Given the description of an element on the screen output the (x, y) to click on. 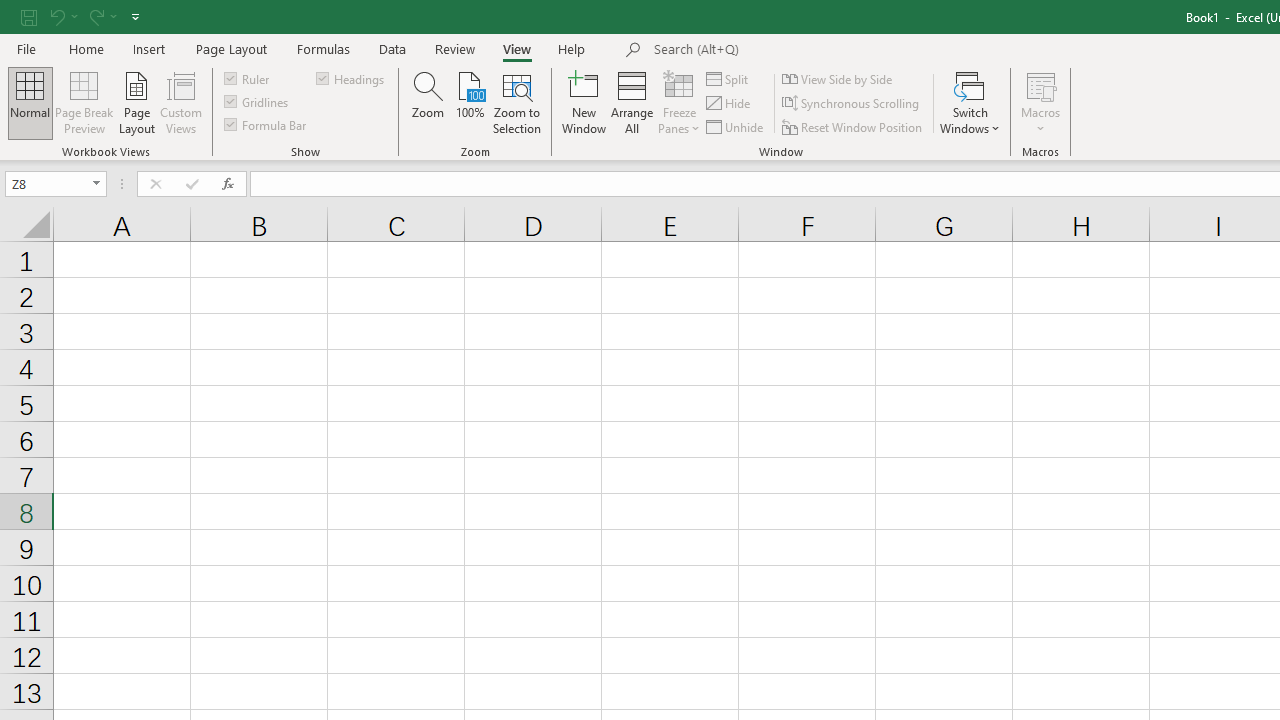
Data (392, 48)
Zoom... (428, 102)
Formula Bar (267, 124)
Ruler (248, 78)
Formulas (323, 48)
File Tab (26, 48)
Gridlines (257, 101)
Help (572, 48)
Zoom to Selection (517, 102)
Quick Access Toolbar (82, 16)
